Given the description of an element on the screen output the (x, y) to click on. 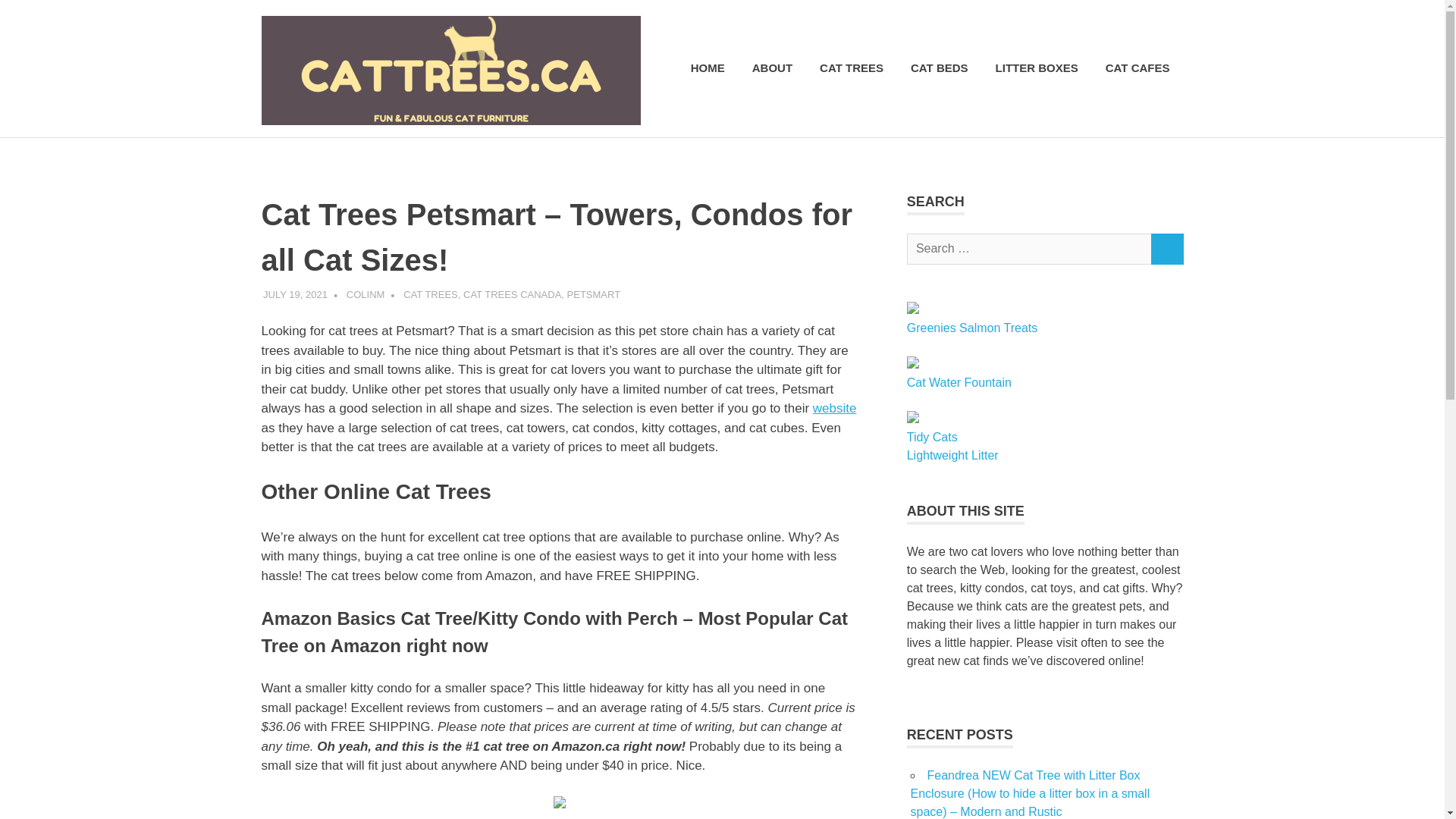
View all posts by colinm (365, 294)
CAT CAFES (1137, 67)
CAT TREES (430, 294)
PETSMART (594, 294)
JULY 19, 2021 (295, 294)
CAT TREES CANADA (511, 294)
7:39 am (295, 294)
ABOUT (772, 67)
website (834, 408)
COLINM (365, 294)
